Given the description of an element on the screen output the (x, y) to click on. 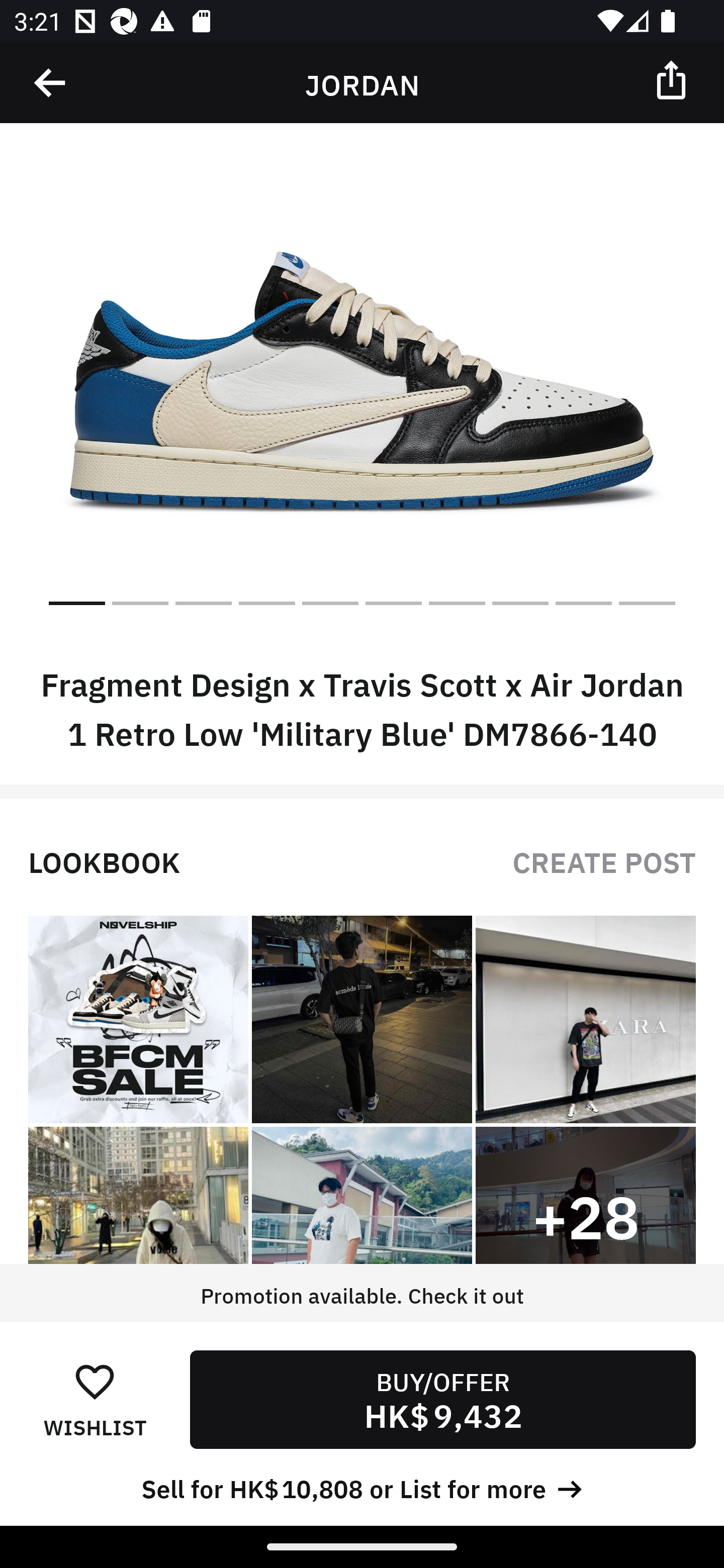
 (50, 83)
 (672, 79)
CREATE POST (603, 860)
BUY/OFFER HK$ 9,432 (442, 1399)
󰋕 (94, 1380)
Sell for HK$ 10,808 or List for more (361, 1486)
